Given the description of an element on the screen output the (x, y) to click on. 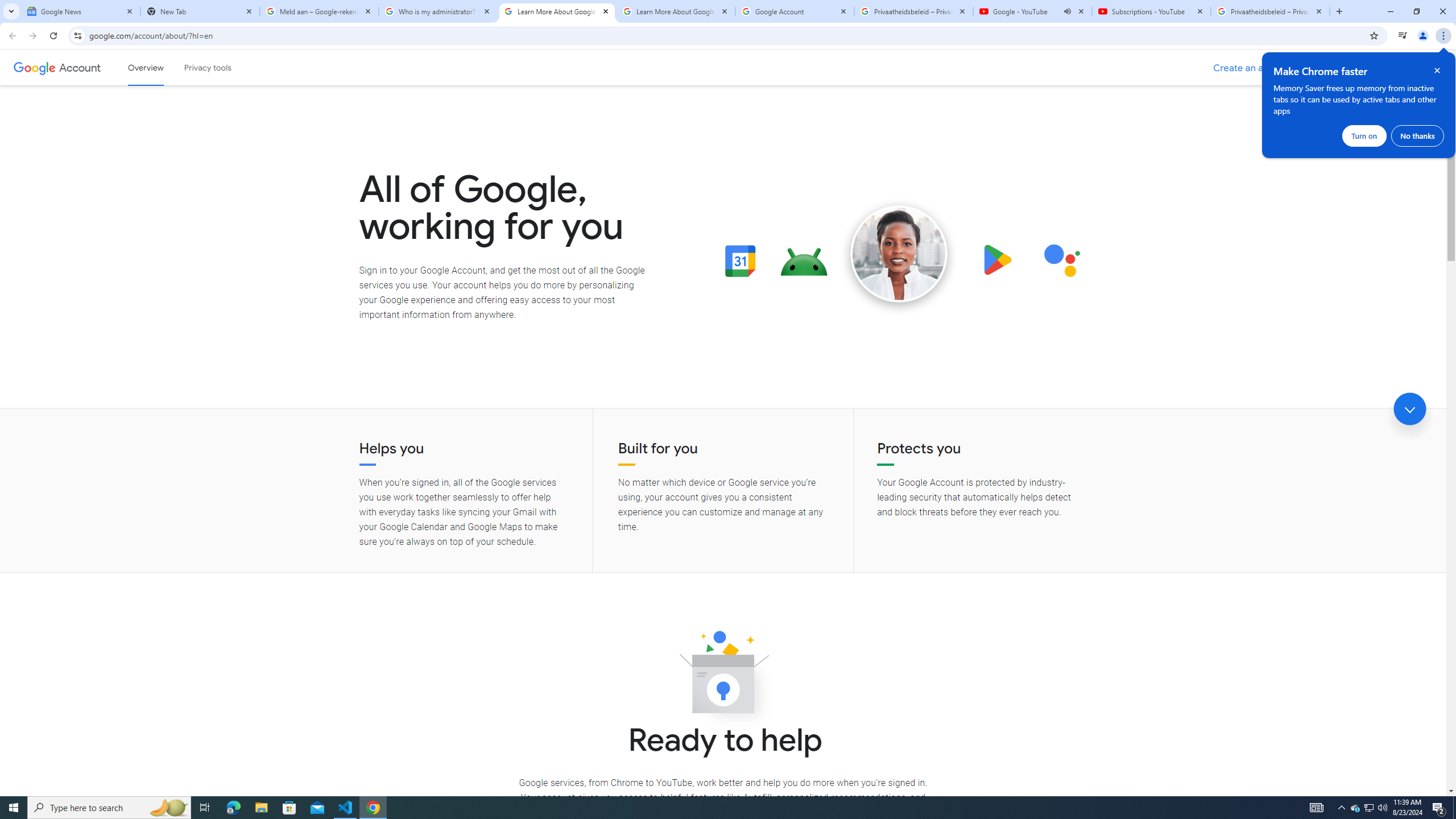
Google Account overview (145, 67)
New Tab (199, 11)
Jump link (1409, 408)
Subscriptions - YouTube (1150, 11)
